Given the description of an element on the screen output the (x, y) to click on. 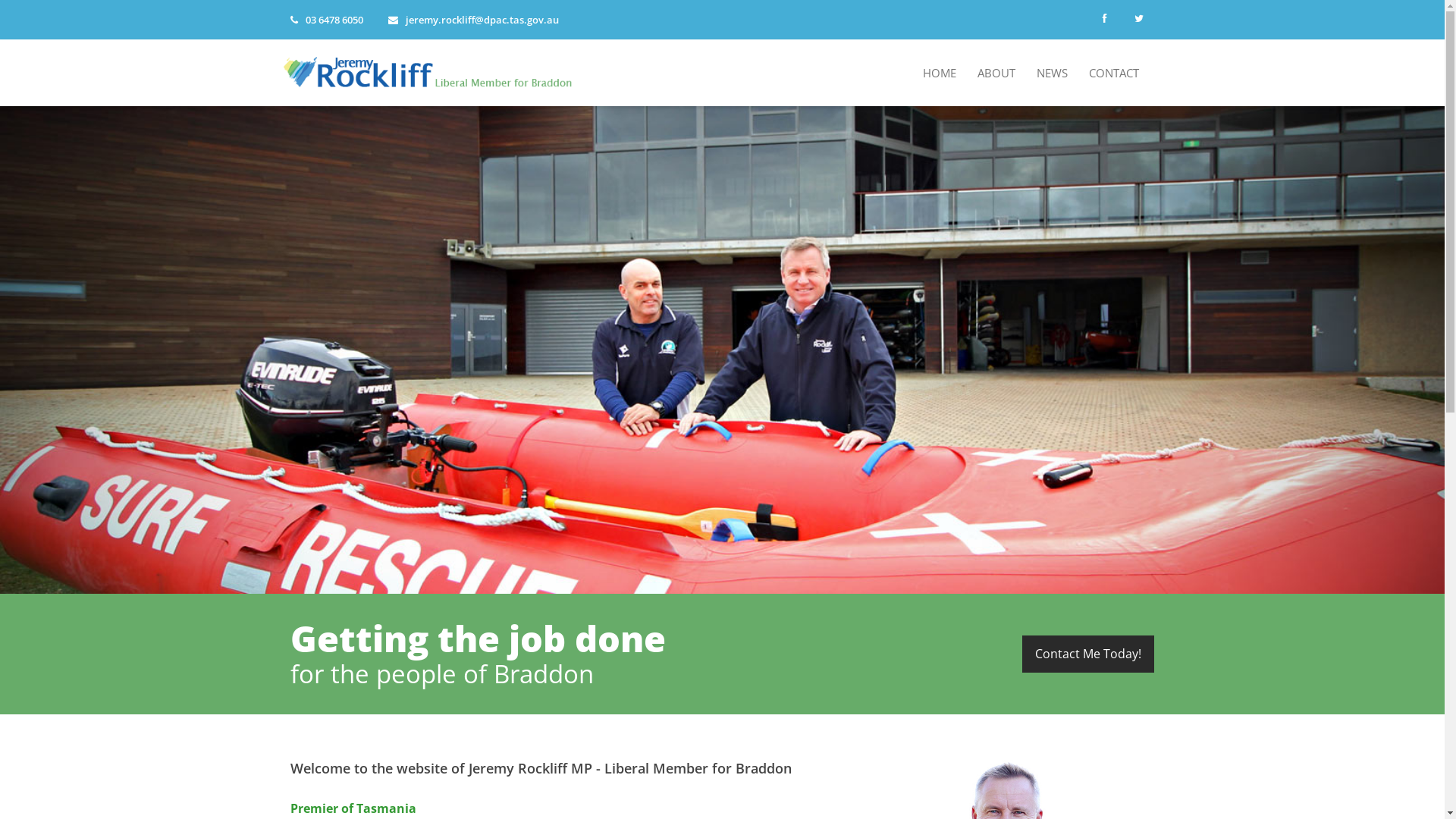
CONTACT Element type: text (1113, 72)
Contact Me Today! Element type: text (1088, 653)
Jeremy Rockliff MP Element type: hover (432, 69)
NEWS Element type: text (1052, 72)
ABOUT Element type: text (995, 72)
HOME Element type: text (939, 72)
